Given the description of an element on the screen output the (x, y) to click on. 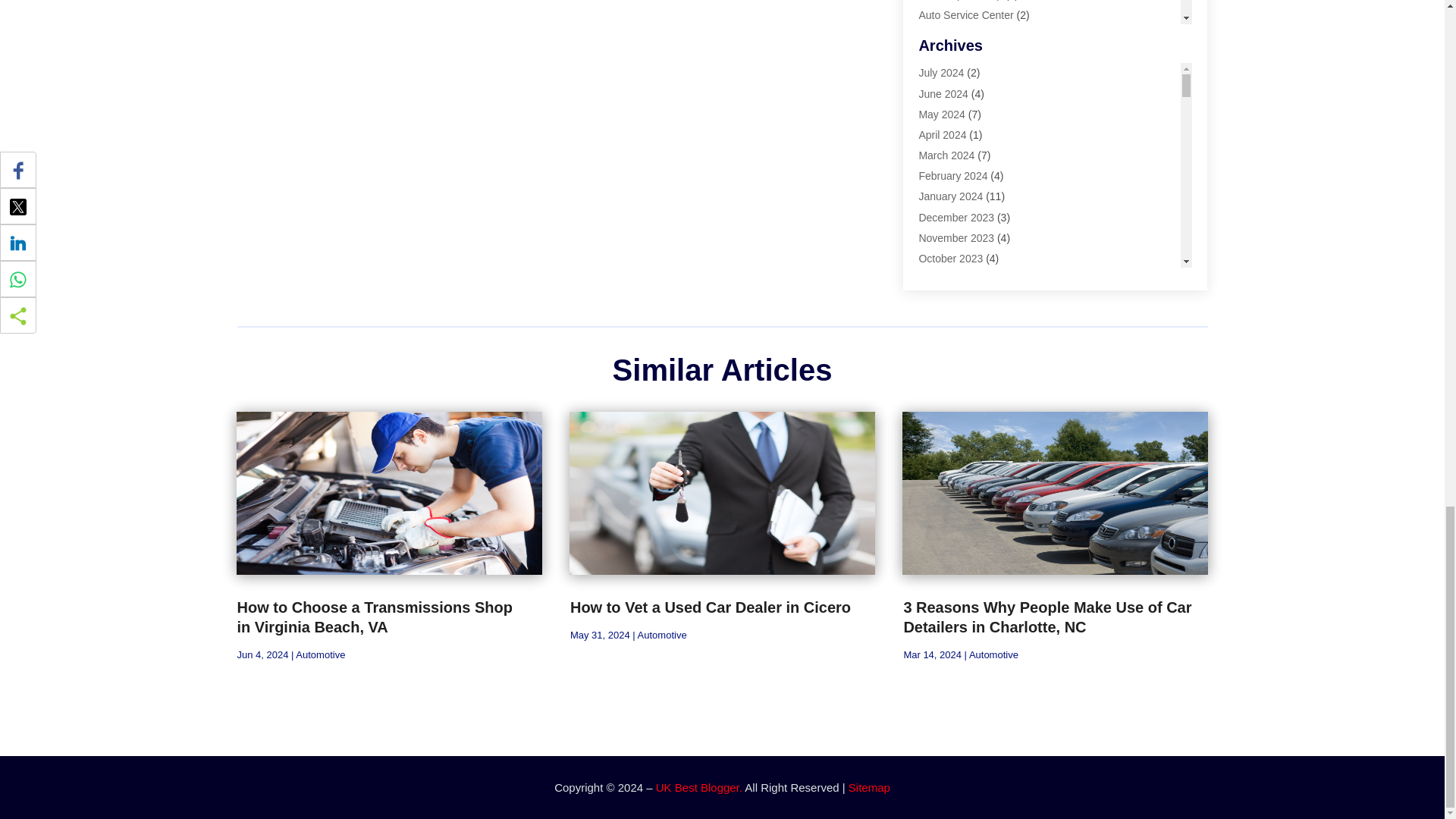
Automobiles (947, 77)
Auto-Products (951, 35)
Automobile (944, 55)
Auto Service Center (965, 15)
